Given the description of an element on the screen output the (x, y) to click on. 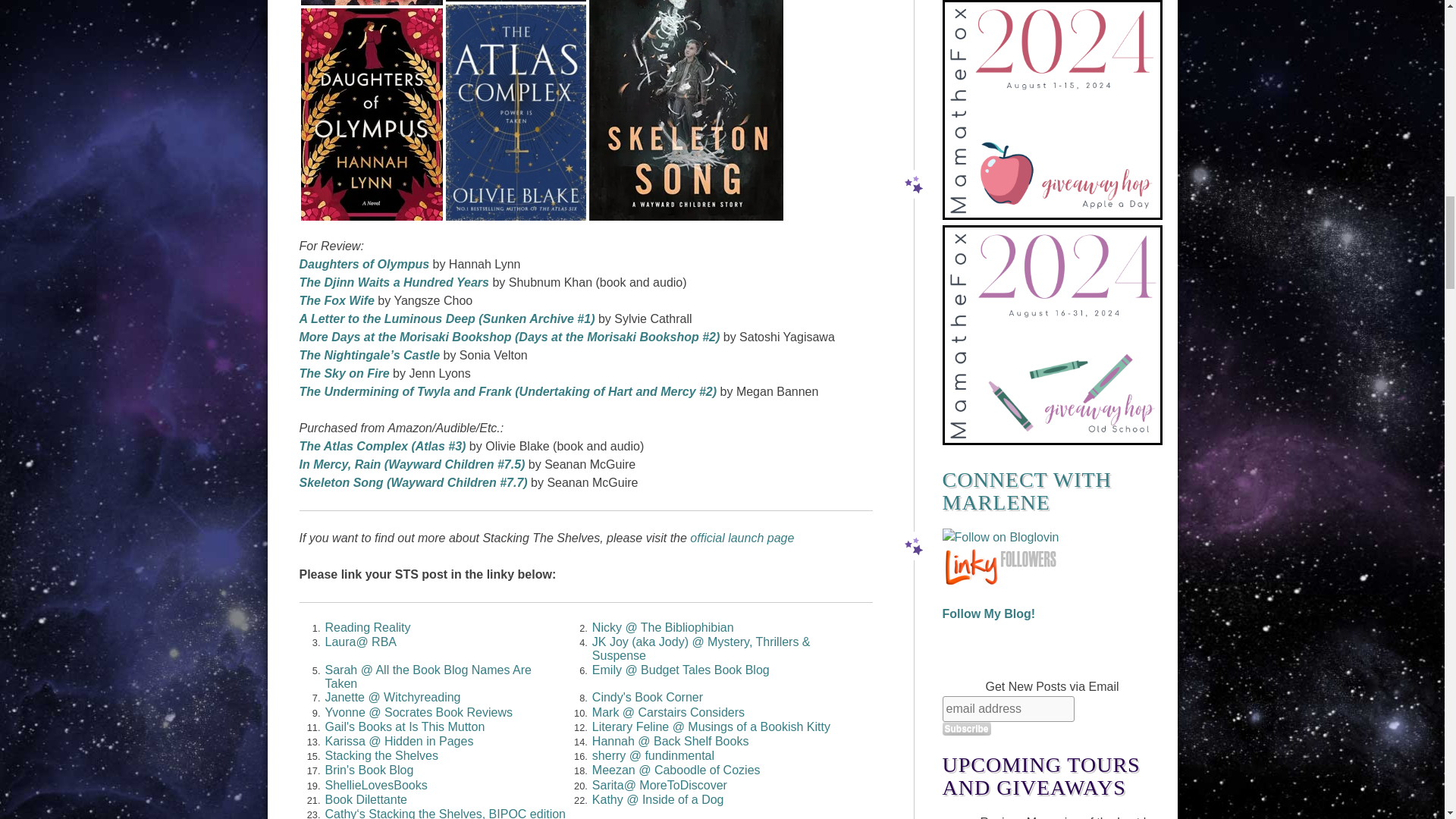
Subscribe (966, 728)
Gail's Books at Is This Mutton (404, 726)
Reading Reality (367, 626)
official launch page (741, 537)
Daughters of Olympus (363, 264)
The Djinn Waits a Hundred Years (392, 282)
in mercy rain by seanan mcguire (515, 0)
Cindy's Book Corner (647, 697)
The Sky on Fire (343, 373)
sky on fire by jenn lyons (370, 2)
The Fox Wife (336, 300)
